Given the description of an element on the screen output the (x, y) to click on. 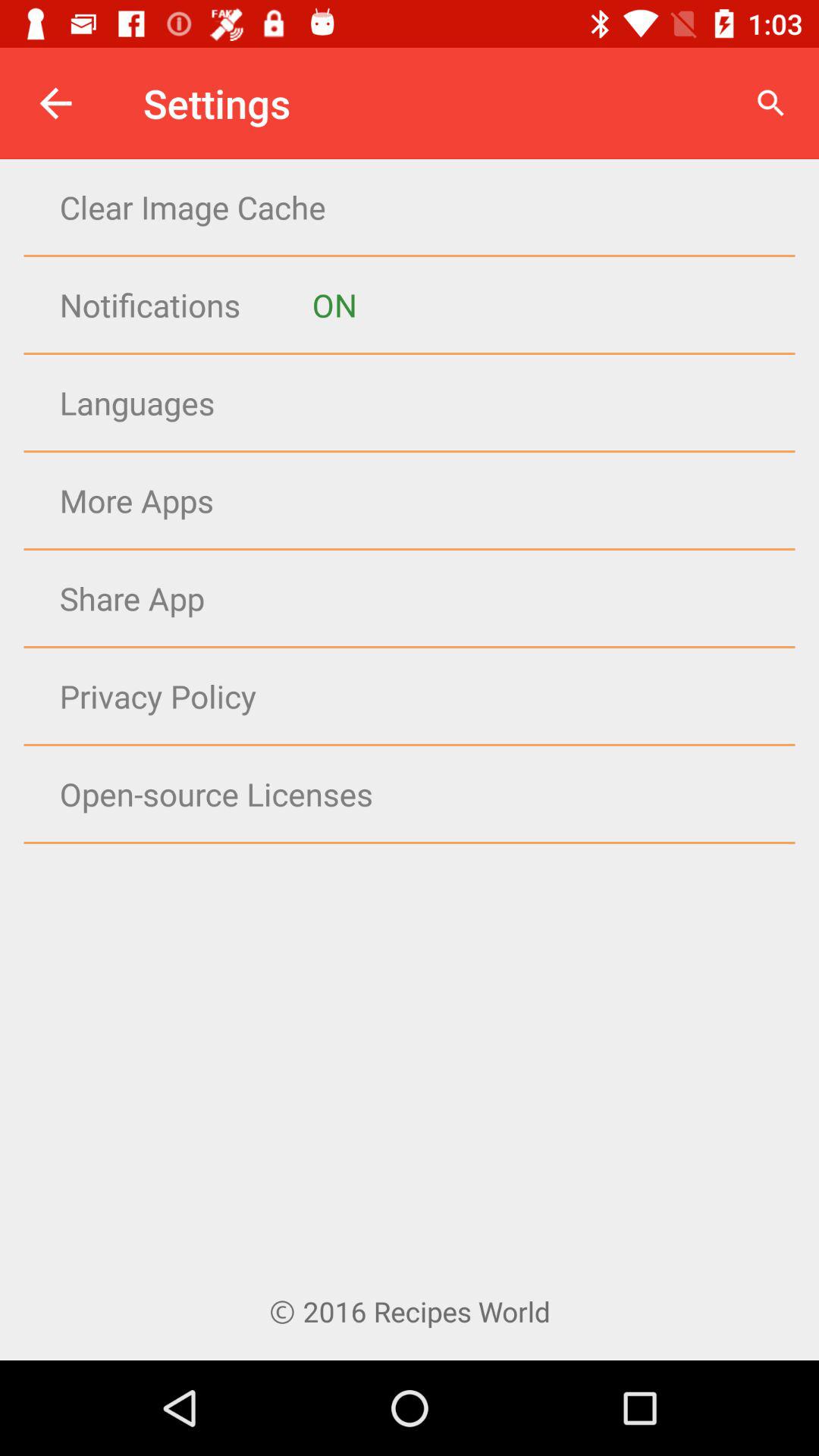
last option under the header text (210, 844)
select the option above the share app (439, 500)
